Given the description of an element on the screen output the (x, y) to click on. 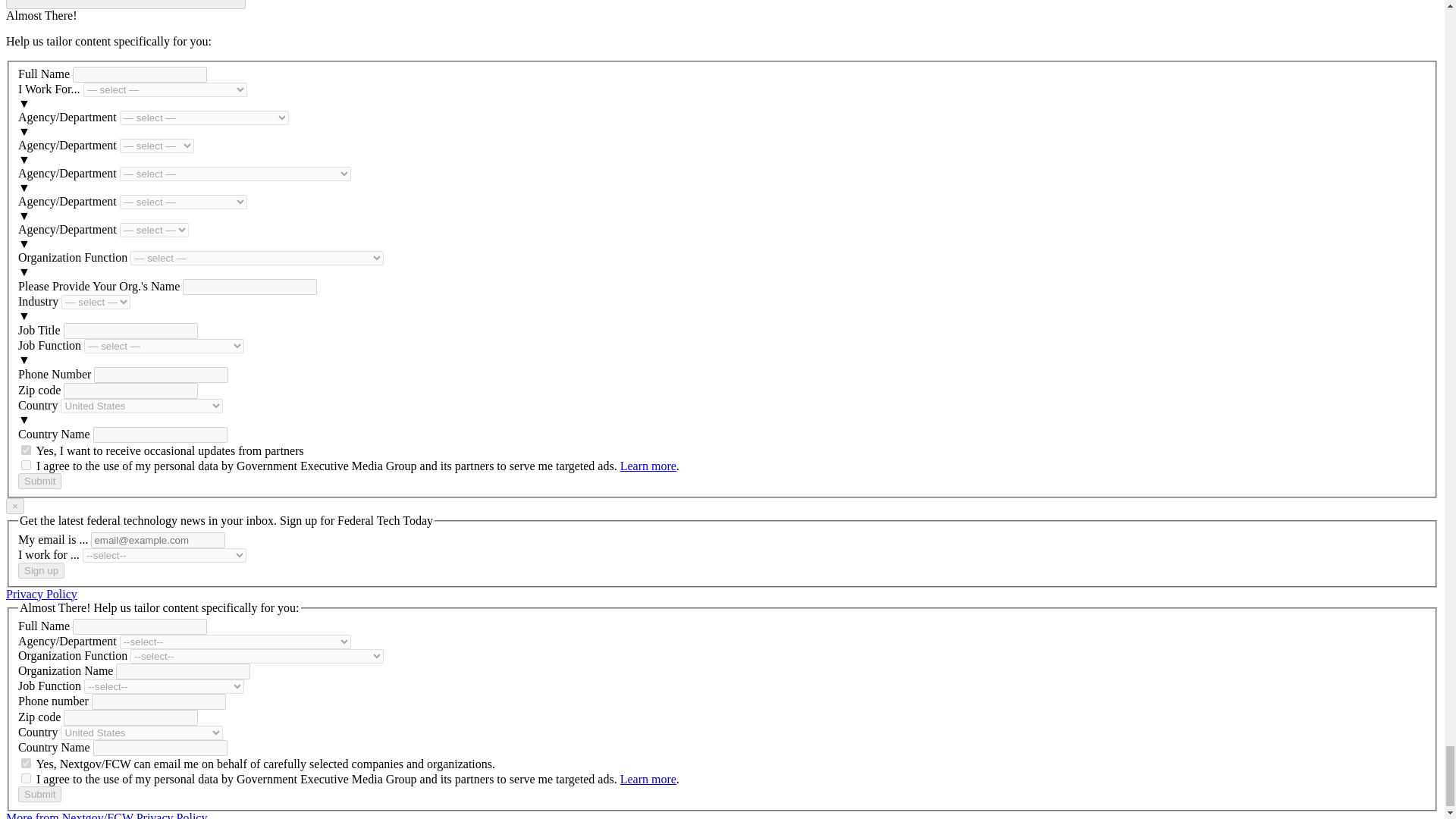
Submit (39, 480)
on (25, 450)
on (25, 763)
on (25, 777)
on (25, 465)
